Given the description of an element on the screen output the (x, y) to click on. 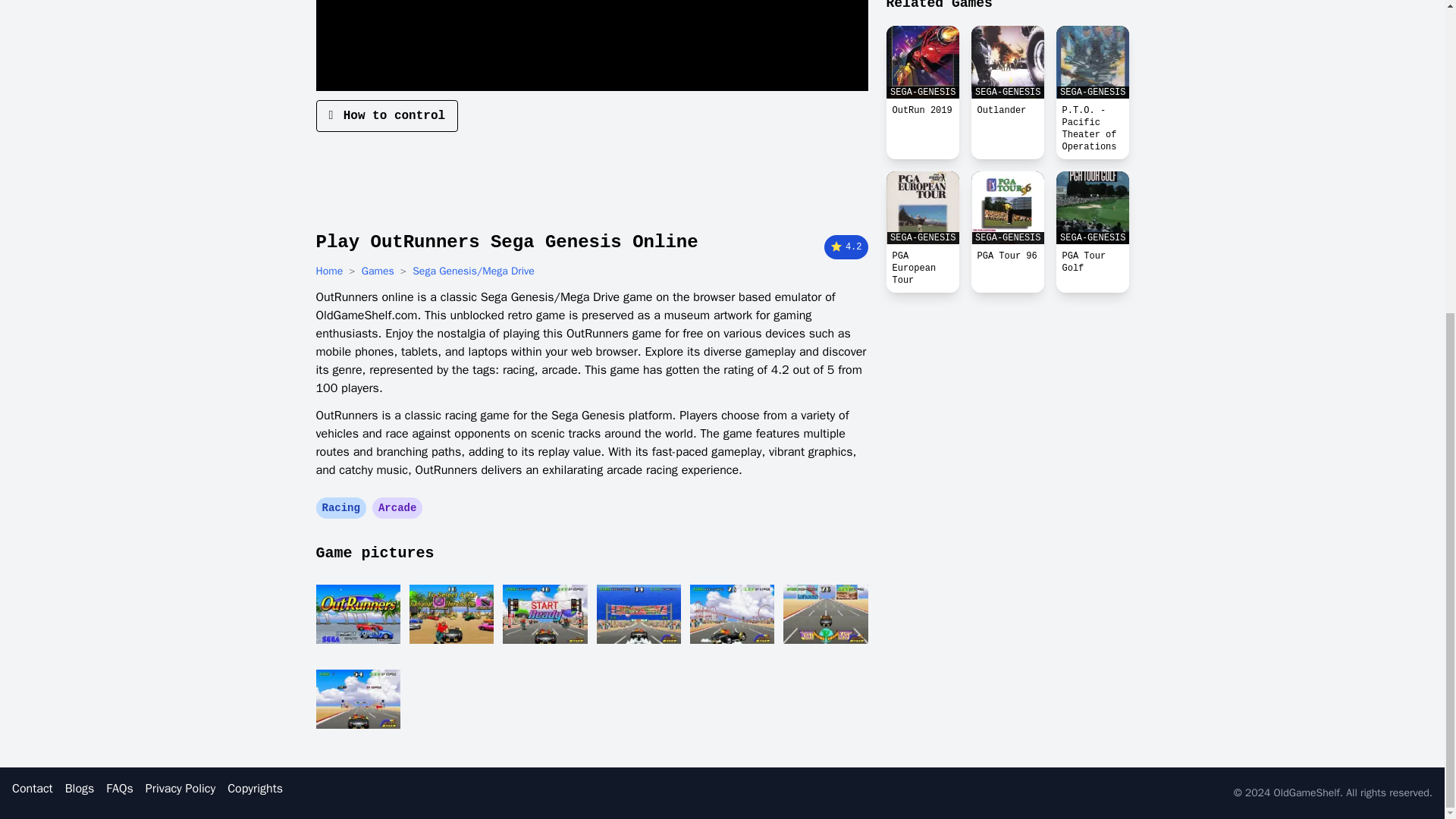
SEGA-GENESIS (1091, 207)
PGA Tour 96 (1007, 256)
Racing (340, 508)
SEGA-GENESIS (921, 207)
SEGA-GENESIS (1007, 207)
Arcade (397, 508)
OutRunners game screenshot 2 (451, 613)
Home (328, 271)
FAQs (119, 788)
OutRunners game screenshot 1 (356, 613)
Privacy Policy (180, 788)
Games (377, 271)
OutRunners game screenshot 5 (732, 613)
OutRunners game screenshot 4 (637, 613)
OutRunners game screenshot 6 (825, 613)
